Given the description of an element on the screen output the (x, y) to click on. 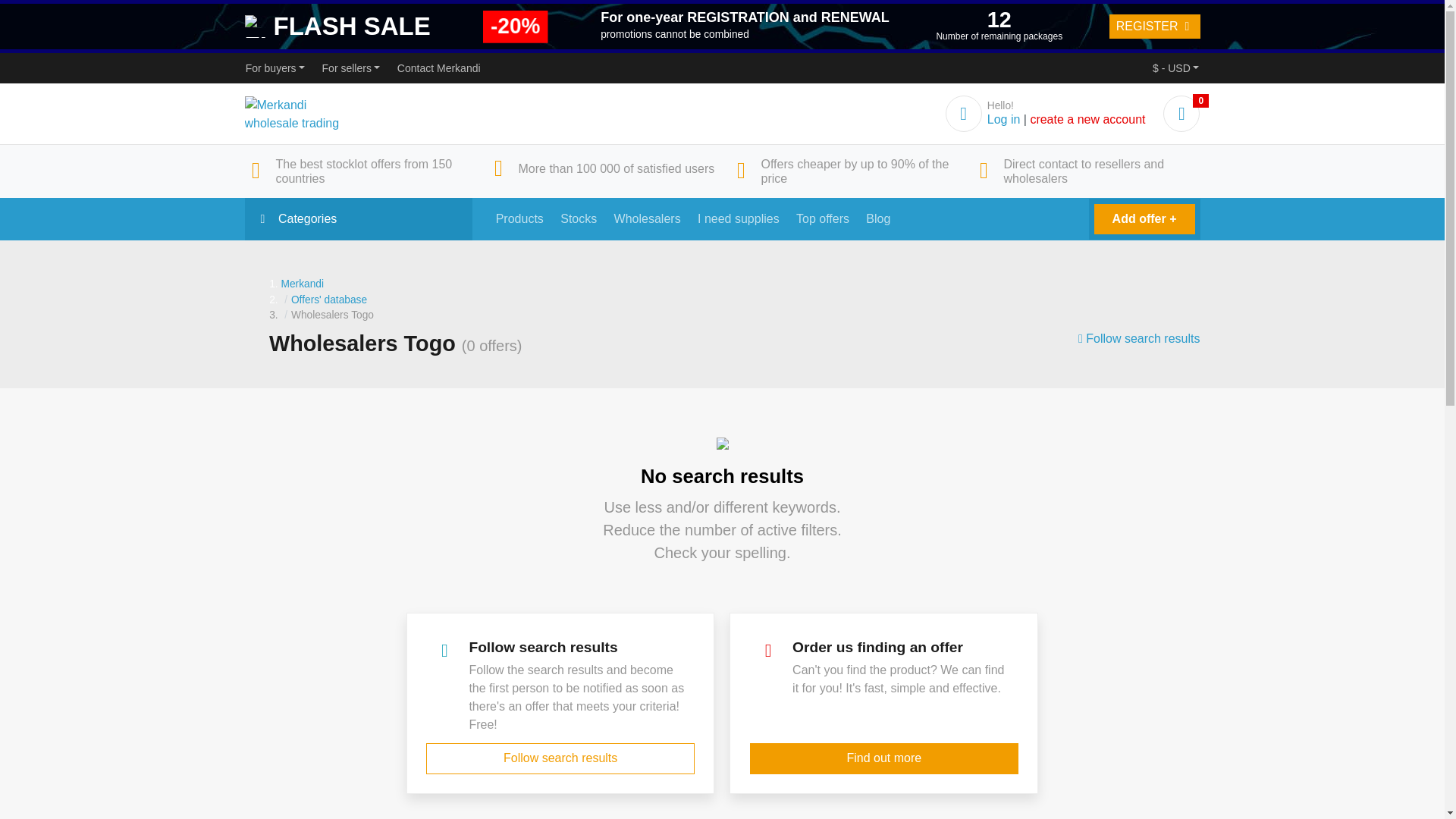
Contact Merkandi (438, 68)
Categories (357, 219)
create a new account (1086, 119)
For sellers (350, 68)
0 (1181, 115)
REGISTER (1154, 26)
For buyers (274, 68)
Shopping cart (1181, 115)
Log in (1003, 119)
